Given the description of an element on the screen output the (x, y) to click on. 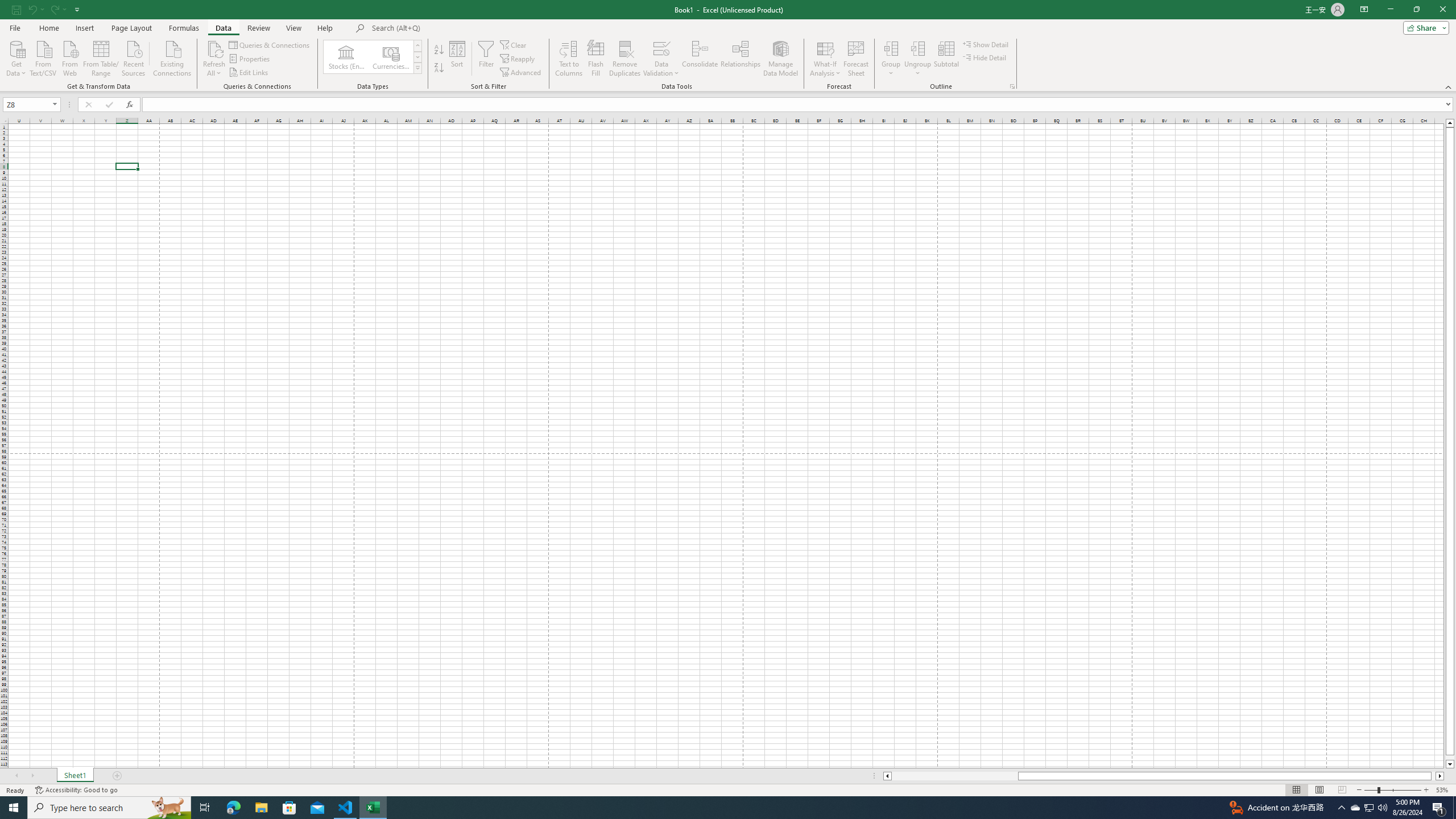
Consolidate... (700, 58)
